Given the description of an element on the screen output the (x, y) to click on. 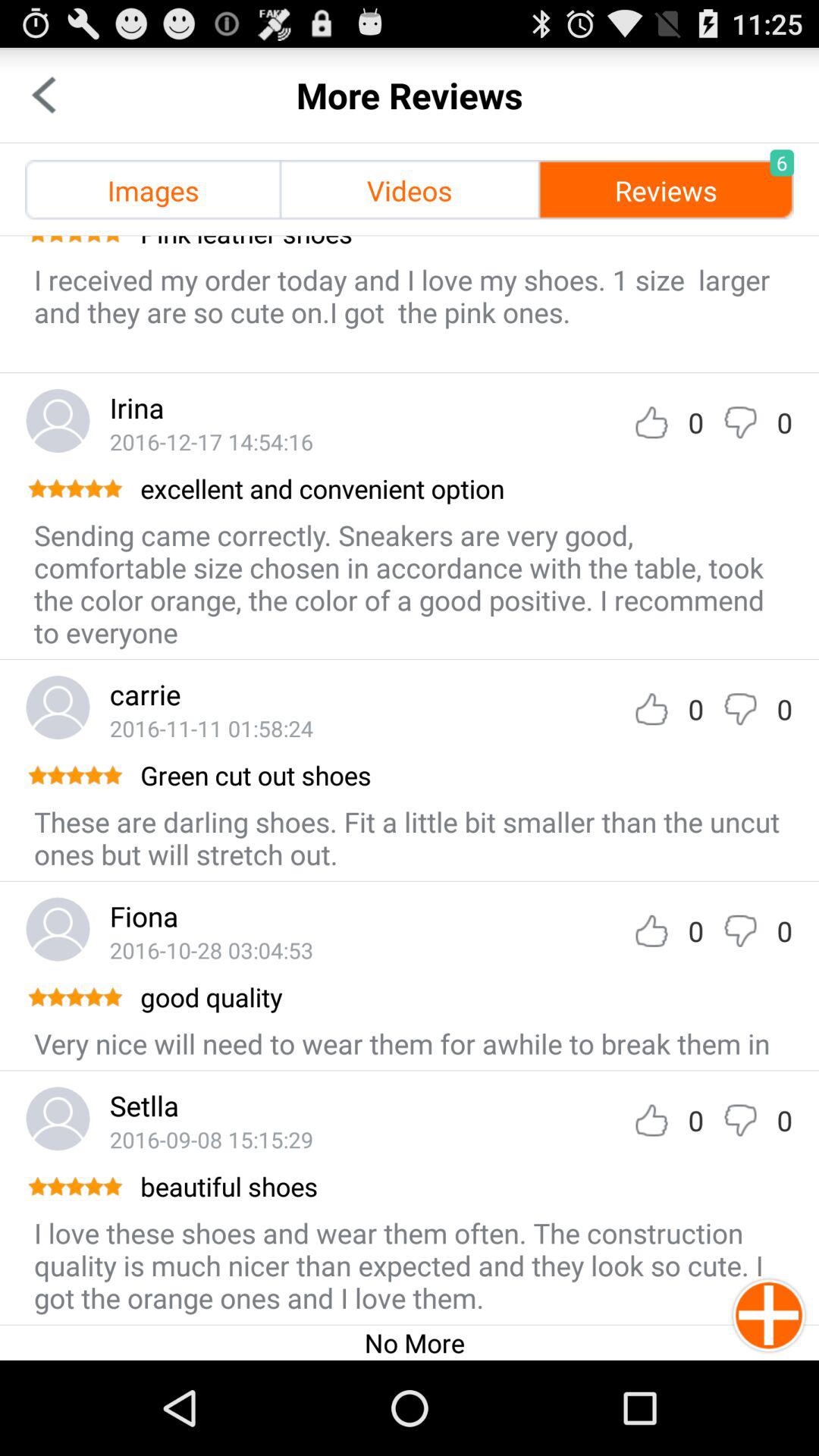
like (651, 709)
